Given the description of an element on the screen output the (x, y) to click on. 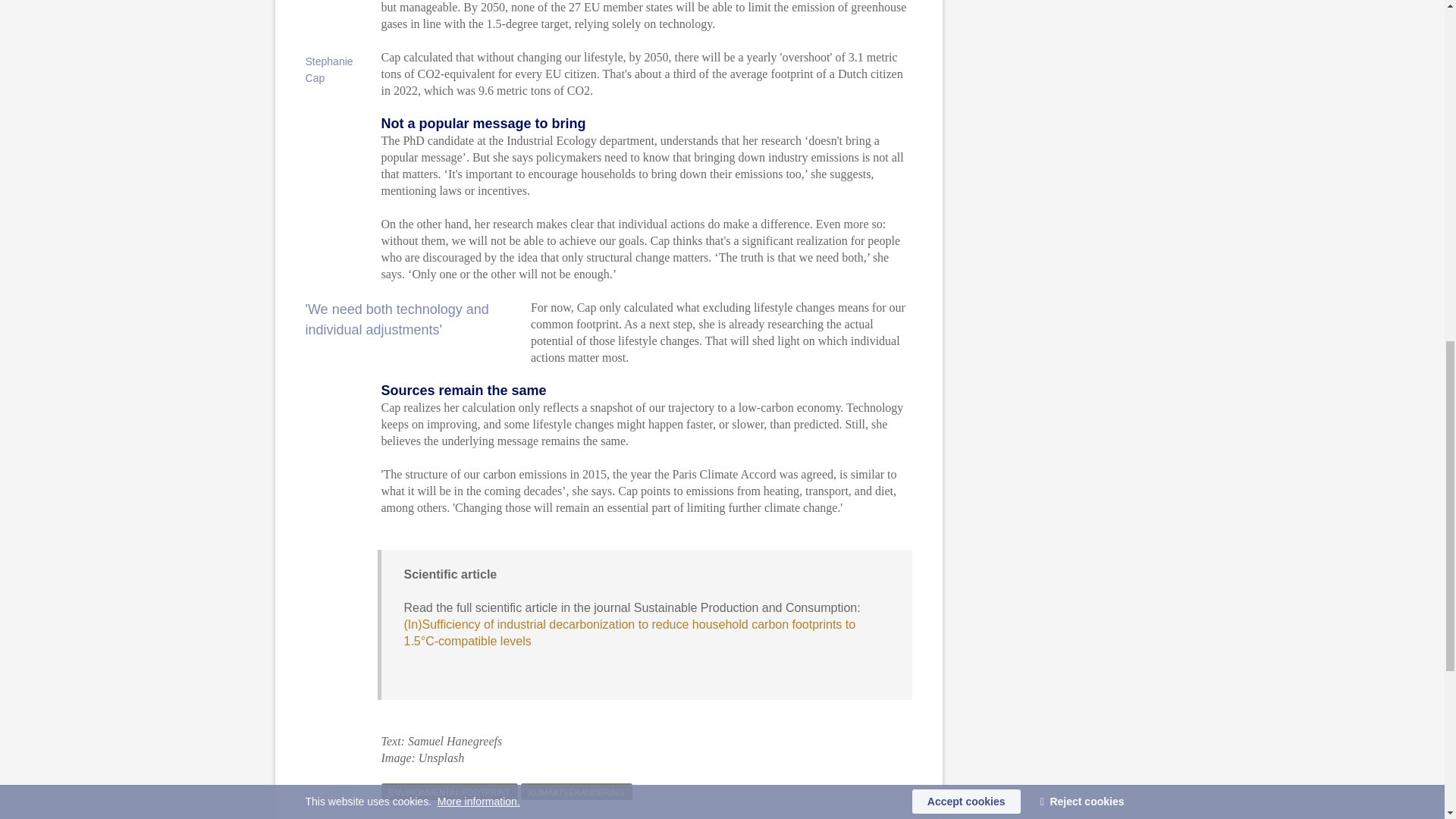
ENVIRONMENTAL FOOTPRINT (448, 791)
KLIMAATVERANDERING (576, 791)
